Given the description of an element on the screen output the (x, y) to click on. 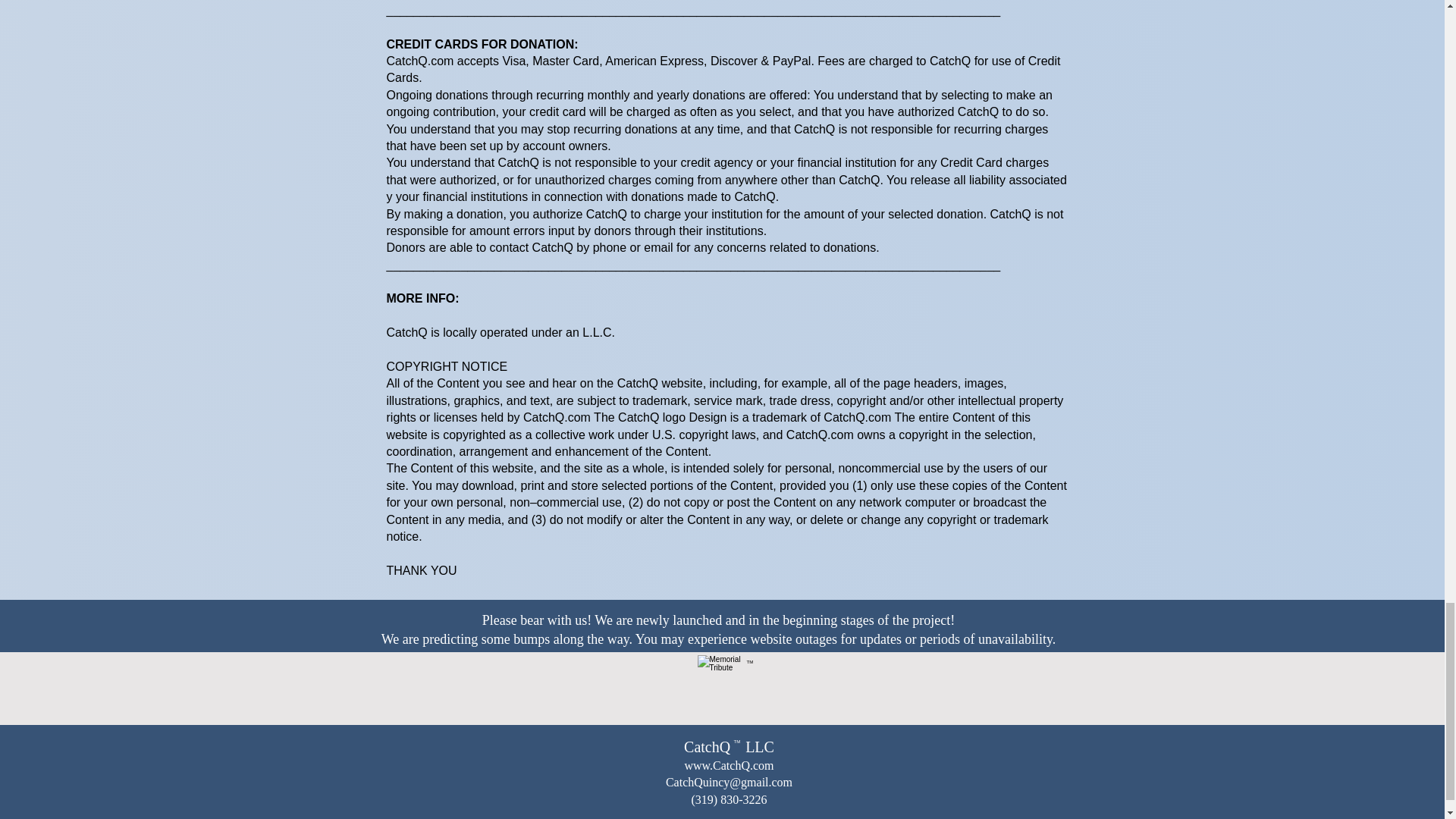
Q51.png (728, 688)
www.CatchQ.com (728, 765)
